Given the description of an element on the screen output the (x, y) to click on. 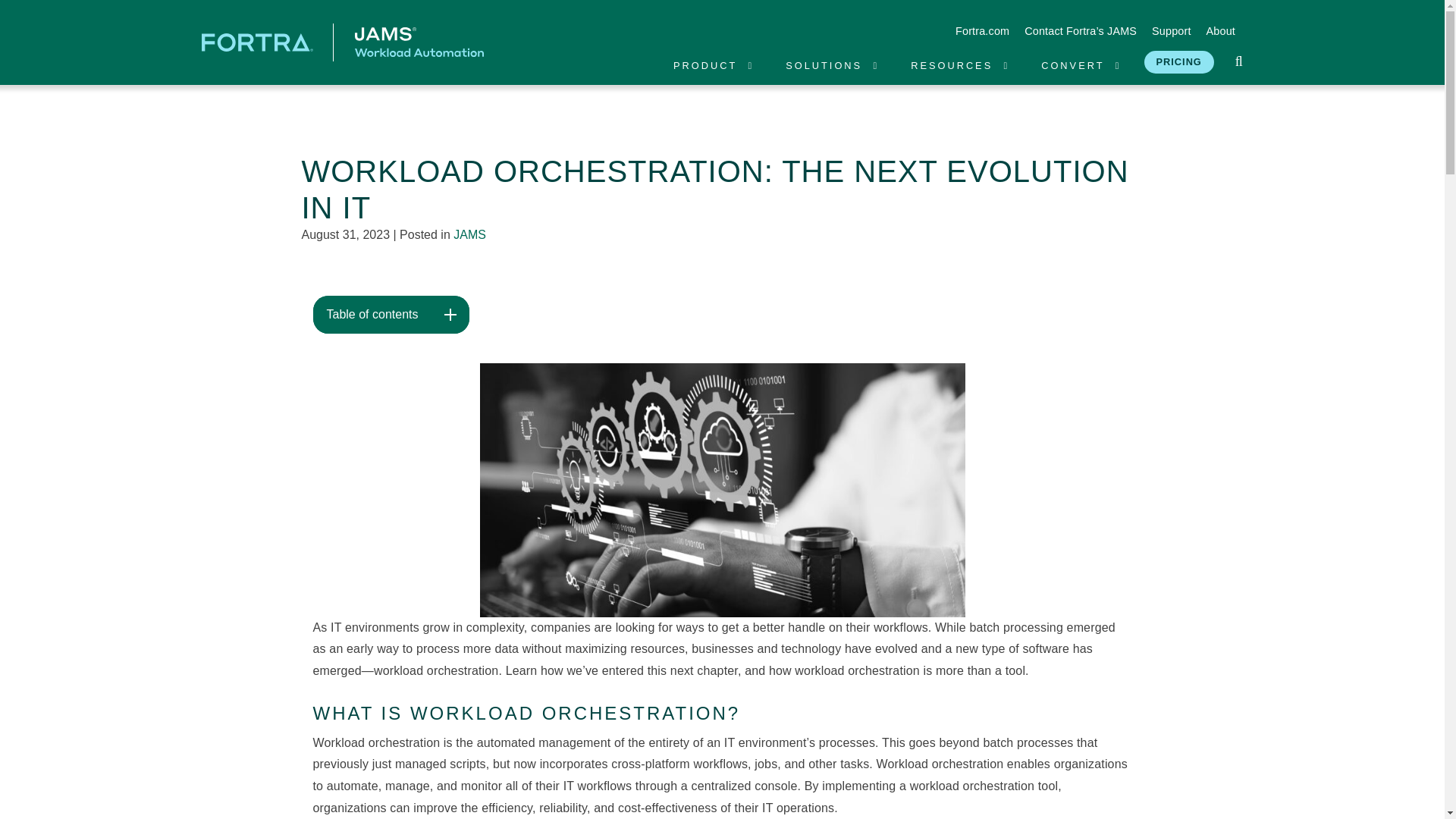
JAMS (342, 41)
